Given the description of an element on the screen output the (x, y) to click on. 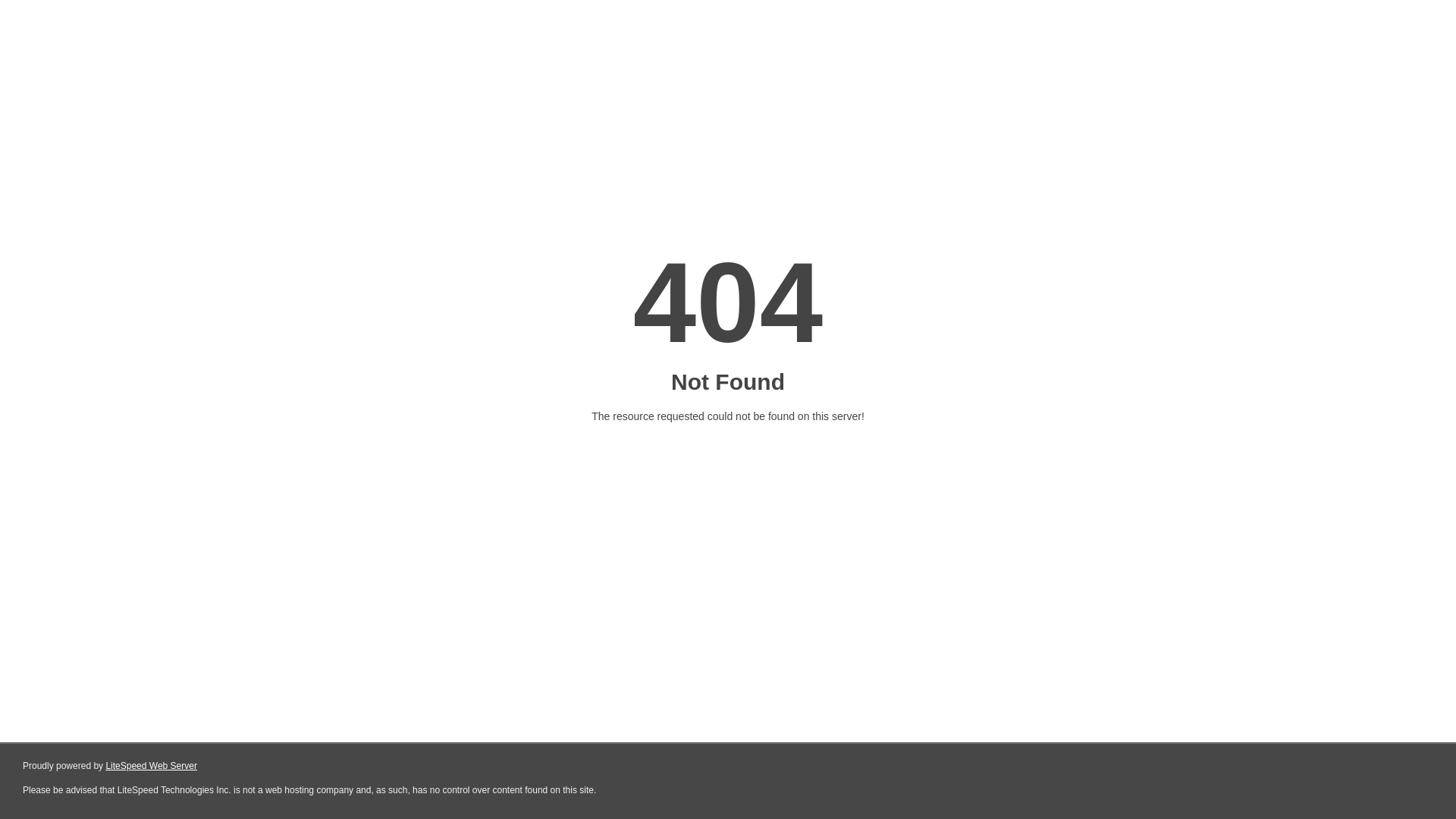
LiteSpeed Web Server Element type: text (151, 765)
